Given the description of an element on the screen output the (x, y) to click on. 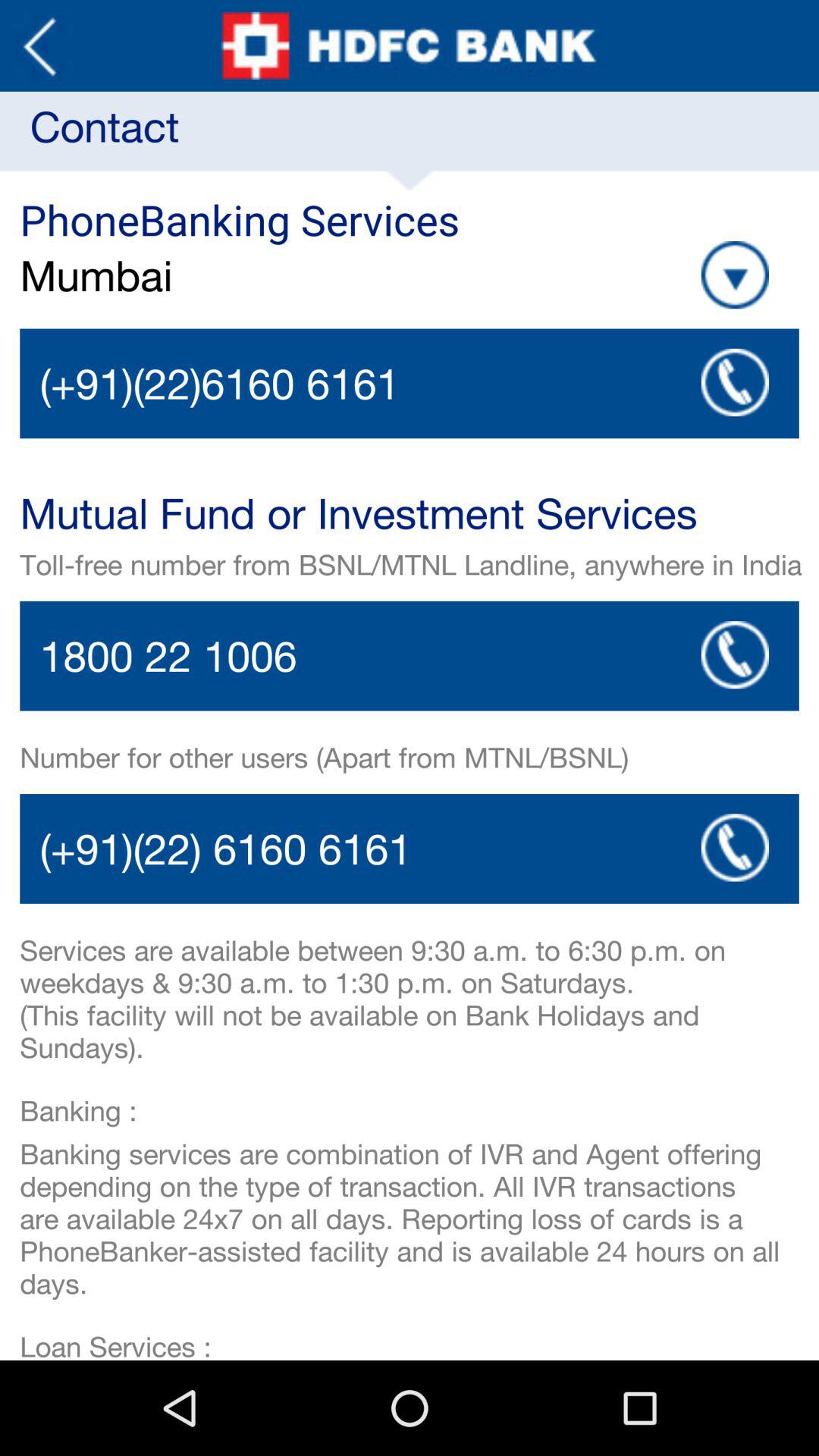
contact no tab (409, 655)
